Given the description of an element on the screen output the (x, y) to click on. 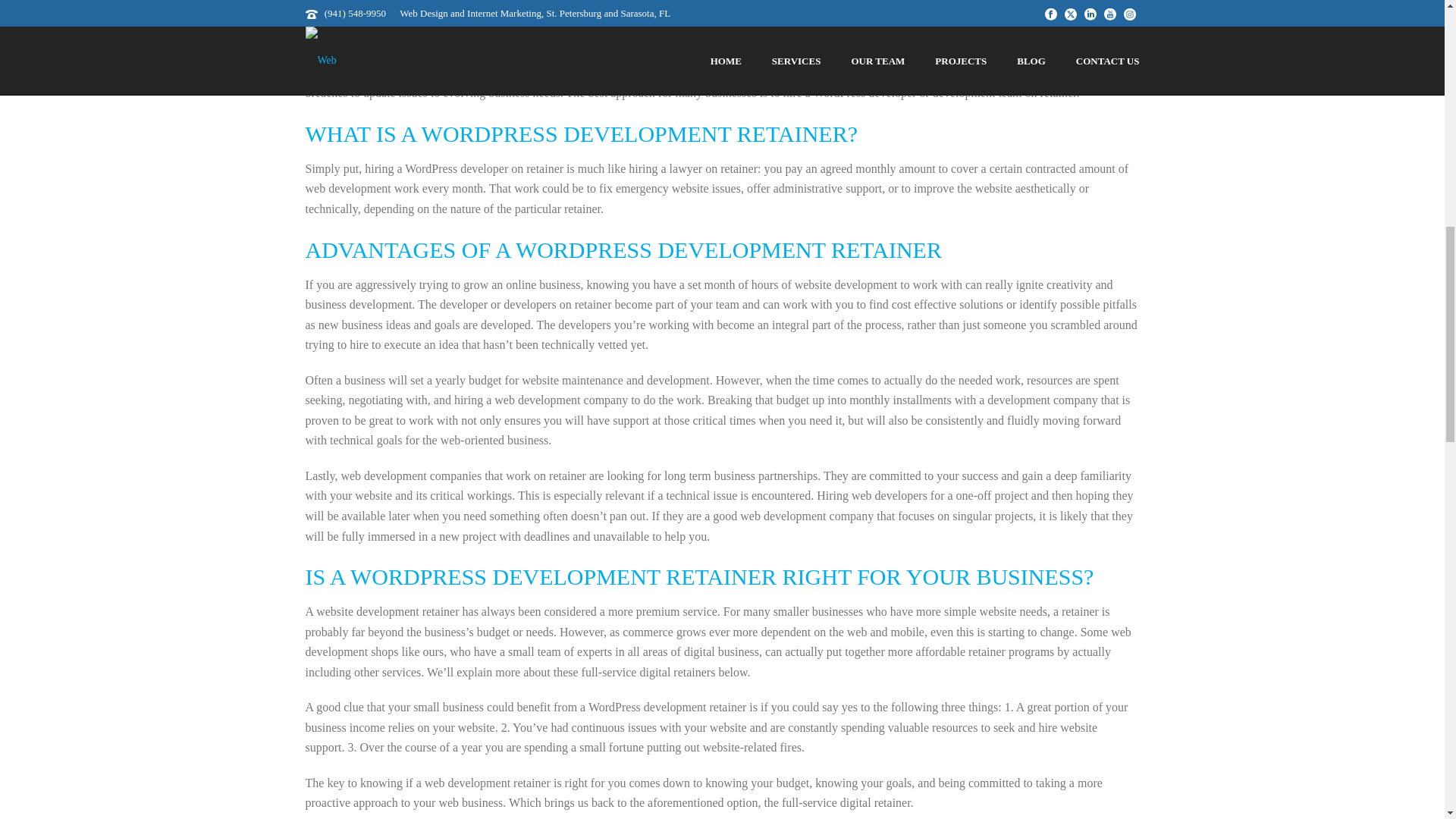
Internet Marketing (479, 11)
December 26, 2022 (381, 11)
Web Development (563, 11)
